Given the description of an element on the screen output the (x, y) to click on. 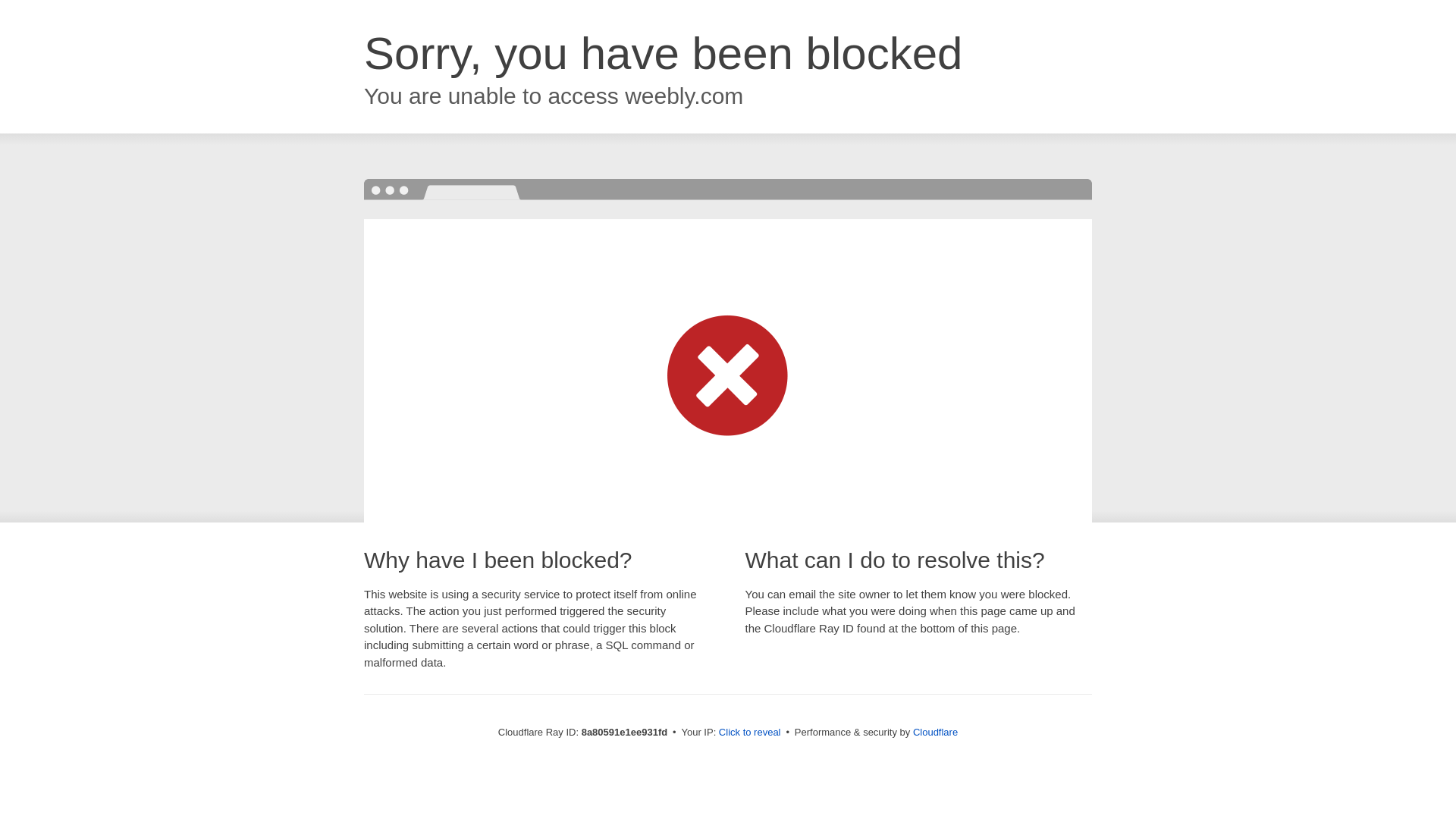
Cloudflare (935, 731)
Click to reveal (749, 732)
